Given the description of an element on the screen output the (x, y) to click on. 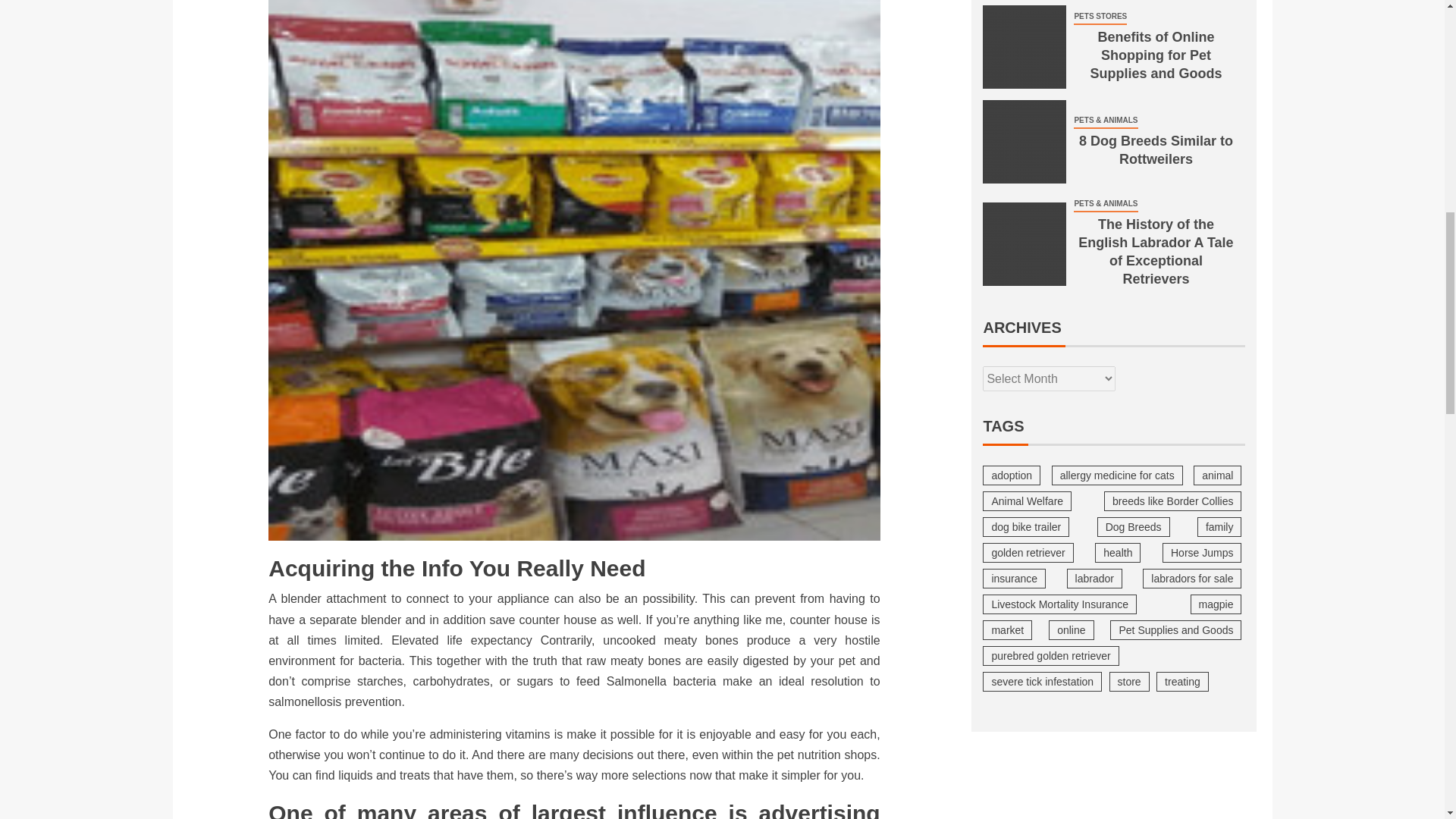
Benefits of Online Shopping for Pet Supplies and Goods (1023, 46)
8 Dog Breeds Similar to Rottweilers (1023, 141)
